Given the description of an element on the screen output the (x, y) to click on. 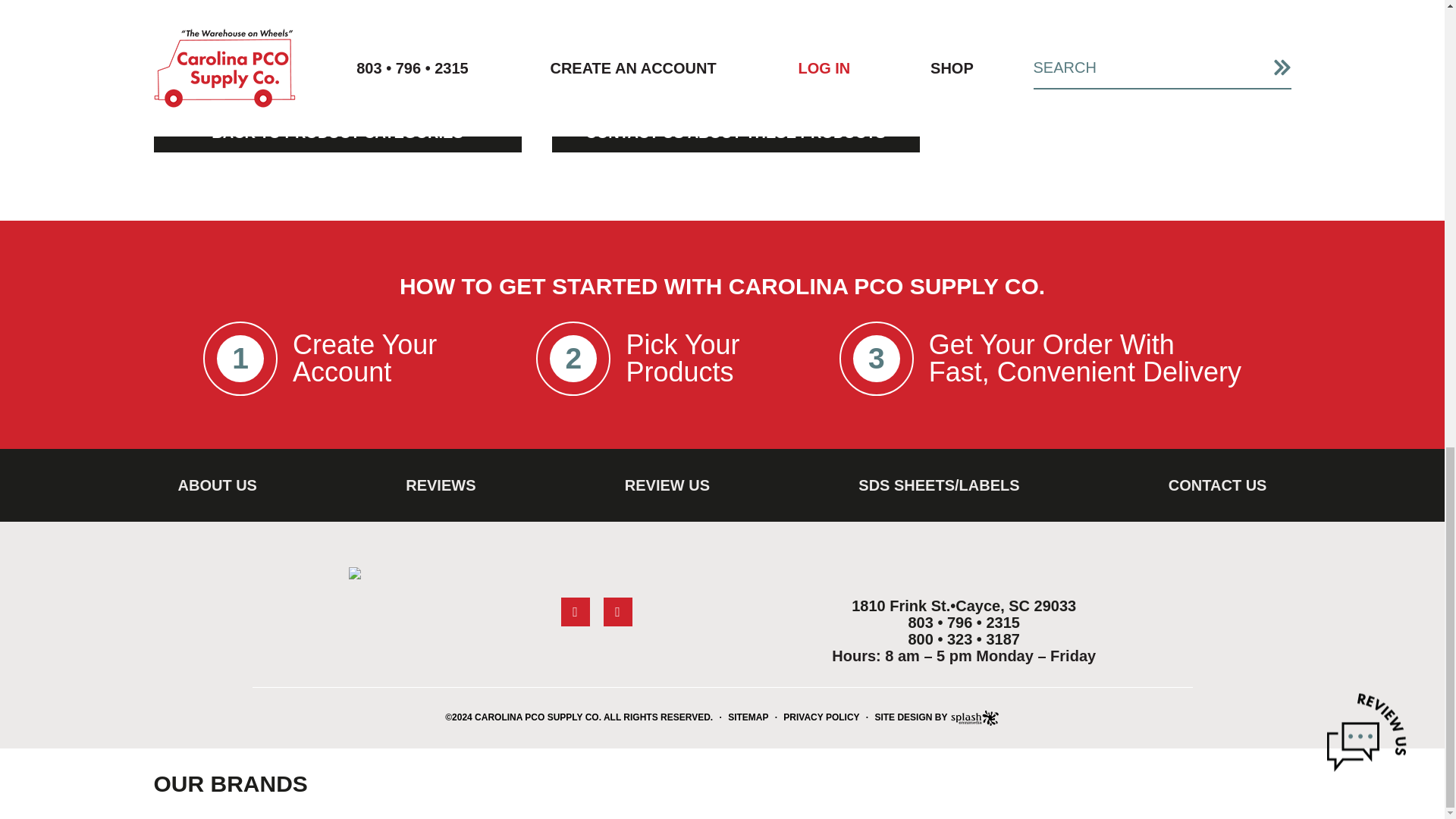
BACK TO PRODUCT CATEGORIES (336, 132)
carolina pco (355, 573)
Login for Price (240, 59)
Login for Price (438, 59)
REVIEWS (440, 485)
Demand CS 8oz (638, 22)
Login for Price (832, 59)
CONTACT US ABOUT THESE PRODUCTS (735, 132)
ABOUT US (216, 485)
Login for Price (634, 59)
ExciteR (244, 22)
Demand CS quart (442, 22)
